Given the description of an element on the screen output the (x, y) to click on. 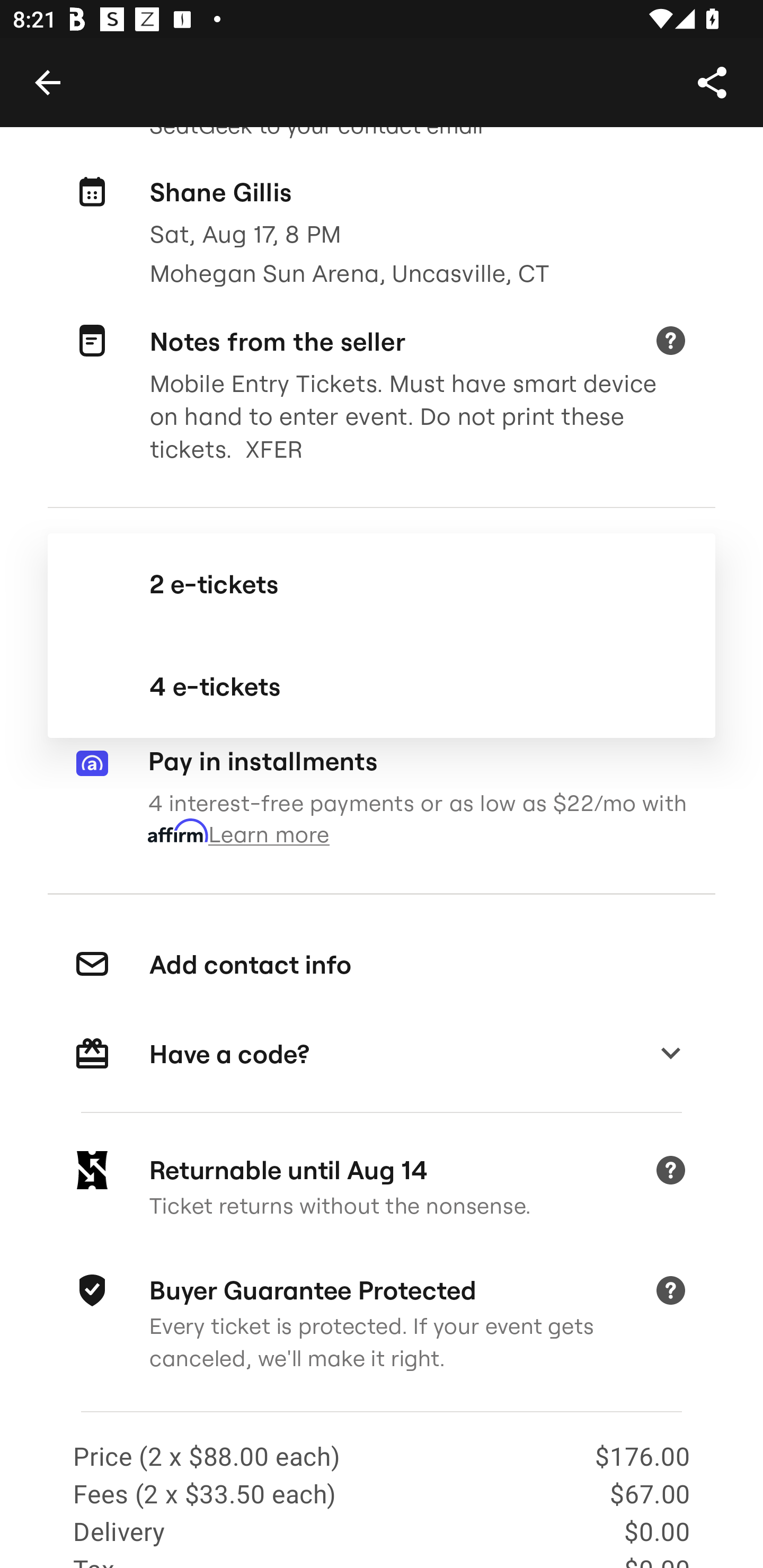
2 e-tickets (381, 584)
4 e-tickets (381, 686)
